Given the description of an element on the screen output the (x, y) to click on. 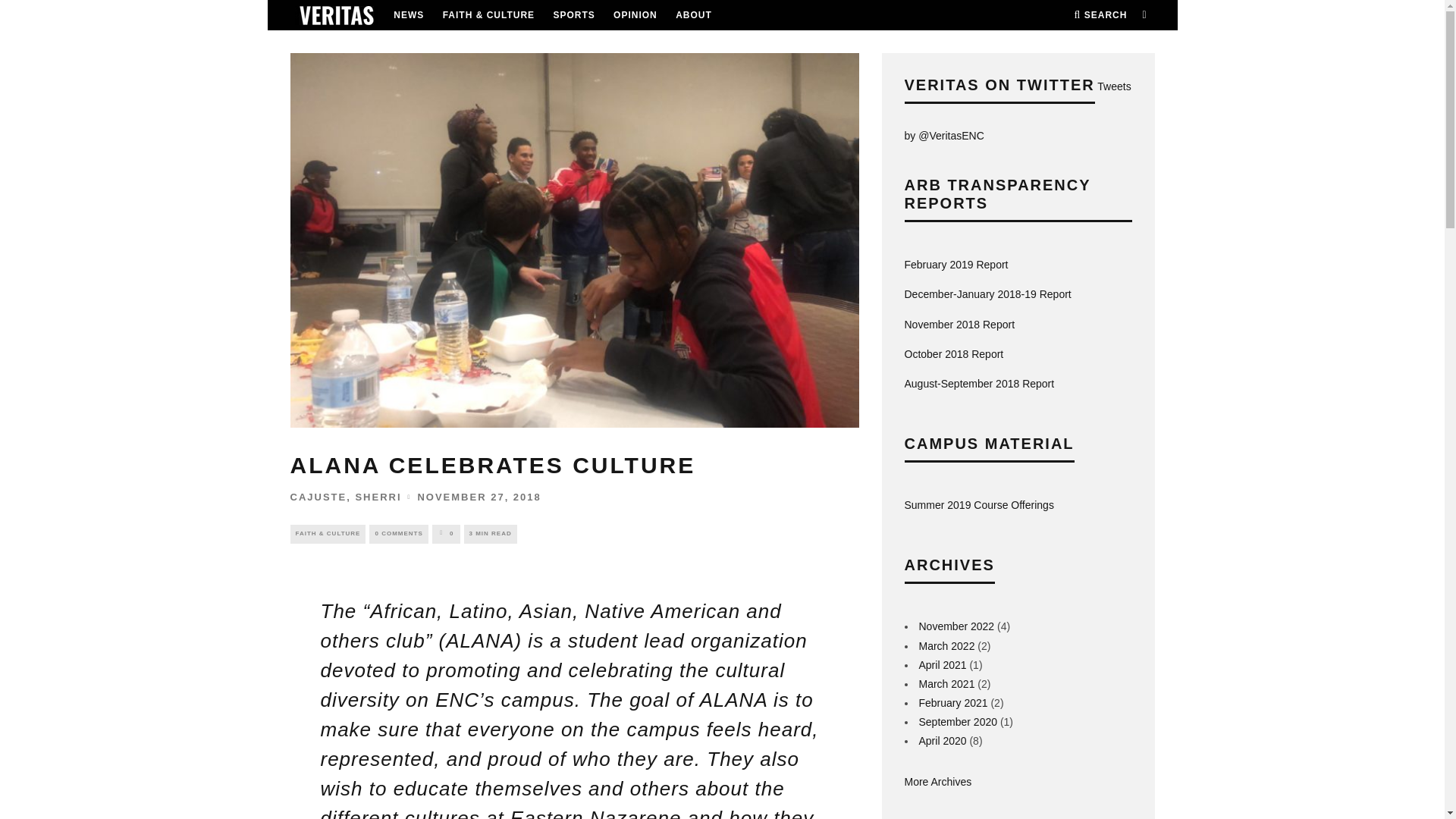
SPORTS (573, 15)
OPINION (635, 15)
SEARCH (1100, 15)
Posts by Cajuste, Sherri (345, 496)
CAJUSTE, SHERRI (345, 496)
0 COMMENTS (398, 533)
VERITAS NEWS (335, 15)
ABOUT (693, 15)
Search (1100, 15)
3 MIN READ (490, 533)
